Given the description of an element on the screen output the (x, y) to click on. 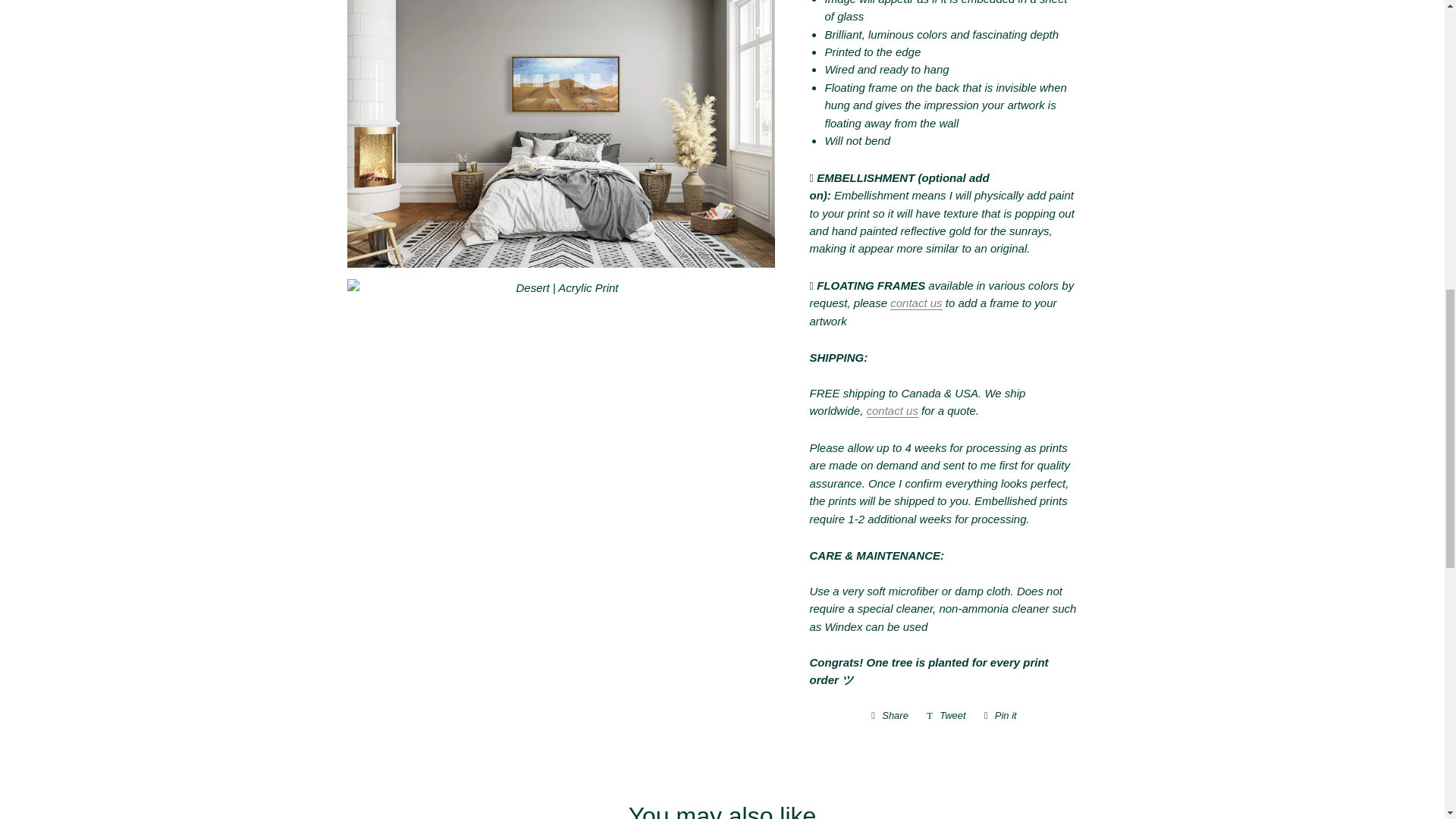
Share on Facebook (889, 715)
Pin on Pinterest (1000, 715)
Tweet on Twitter (946, 715)
